Given the description of an element on the screen output the (x, y) to click on. 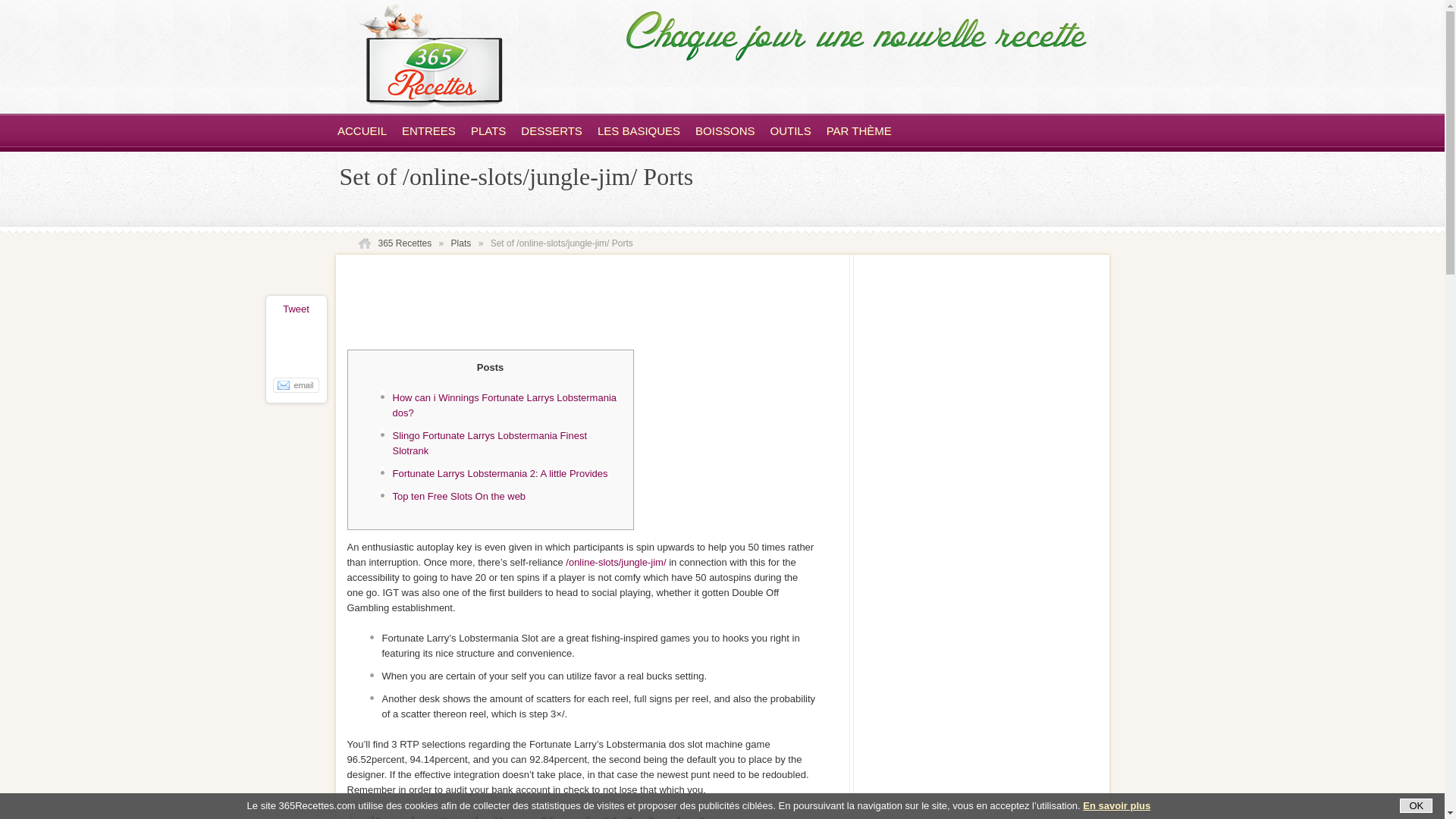
Site de recettes (362, 130)
PLATS (487, 130)
Recettes de plats (487, 130)
LES BASIQUES (637, 130)
ACCUEIL (362, 130)
DESSERTS (551, 130)
Site de recettes (430, 103)
BOISSONS (724, 130)
ENTREES (428, 130)
